Given the description of an element on the screen output the (x, y) to click on. 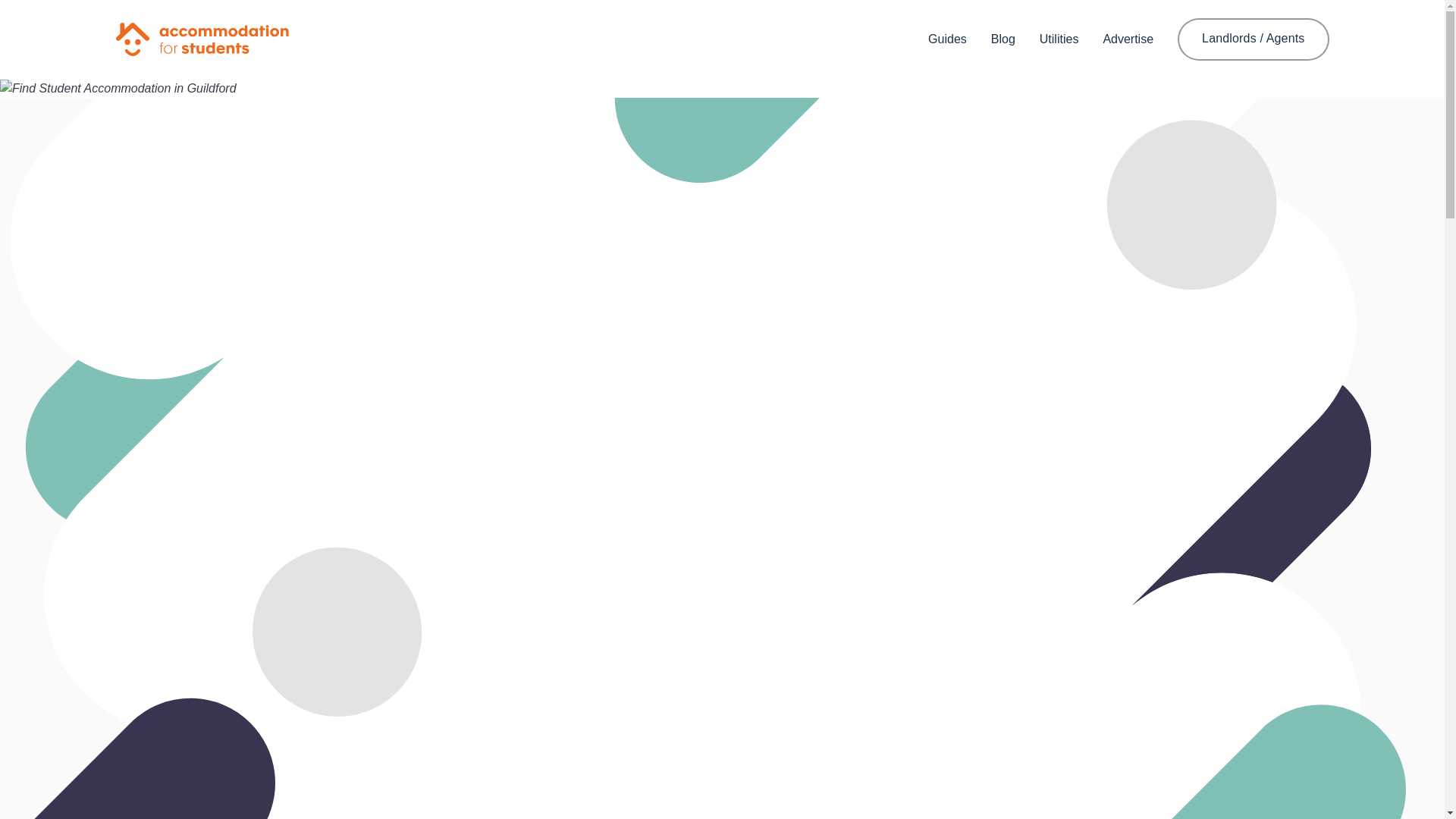
Accommodation for Students (201, 39)
Advertise (1127, 39)
Blog (1002, 39)
Guides (947, 39)
Utilities (1058, 39)
